Given the description of an element on the screen output the (x, y) to click on. 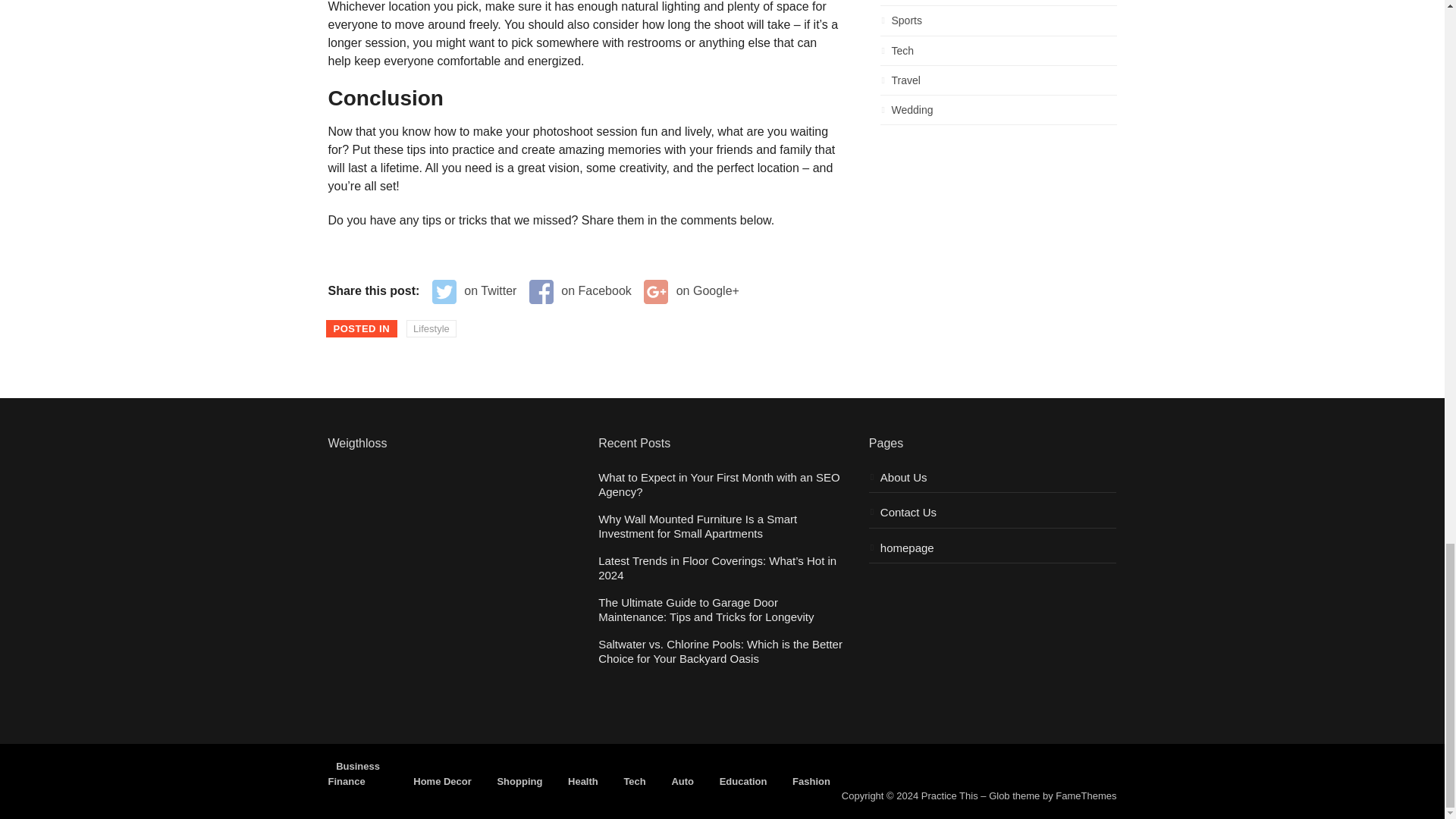
on Twitter (474, 291)
Lifestyle (431, 329)
on Facebook (580, 291)
